Given the description of an element on the screen output the (x, y) to click on. 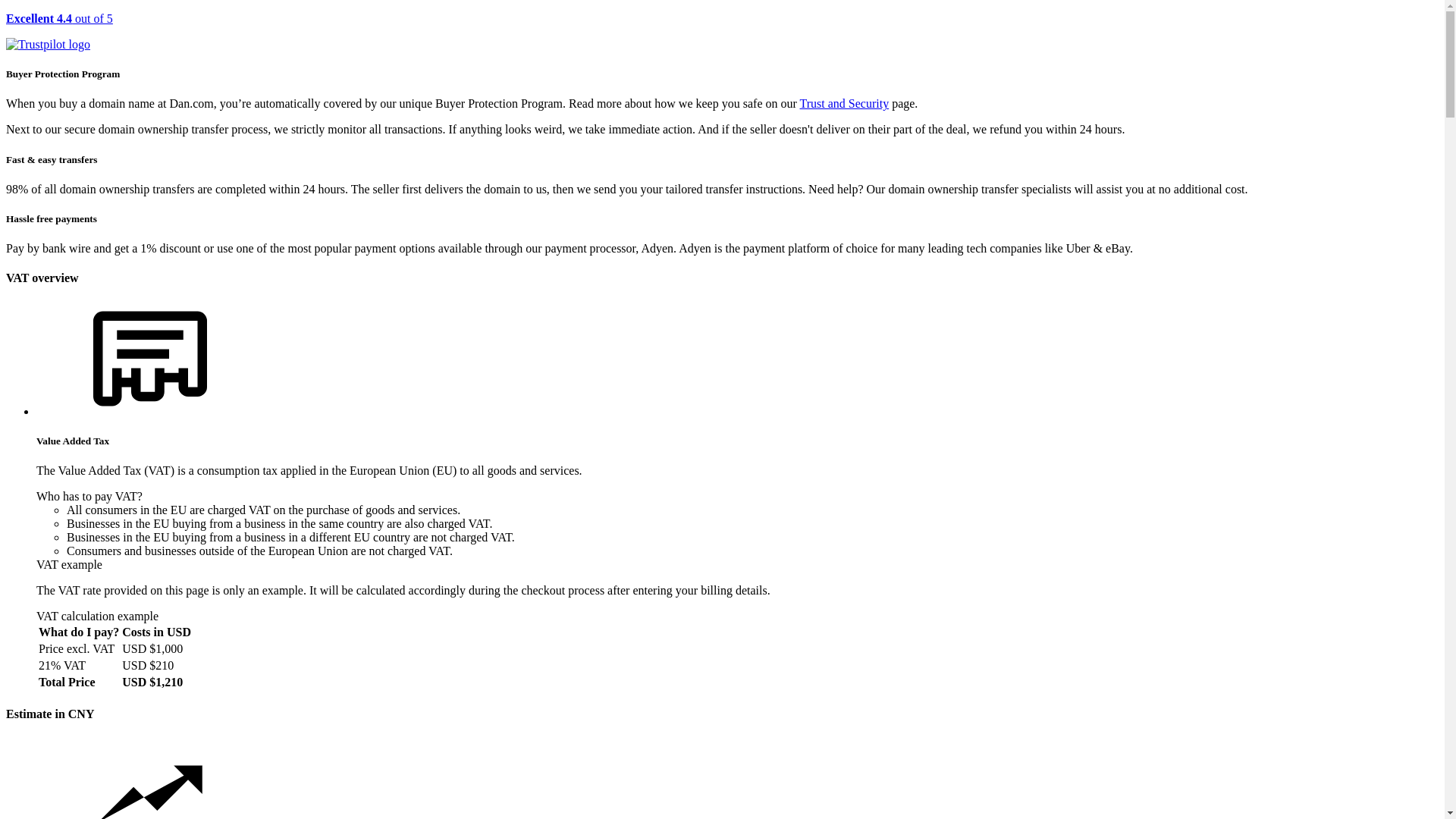
Excellent 4.4 out of 5 Element type: text (722, 31)
Trust and Security Element type: text (844, 103)
